Given the description of an element on the screen output the (x, y) to click on. 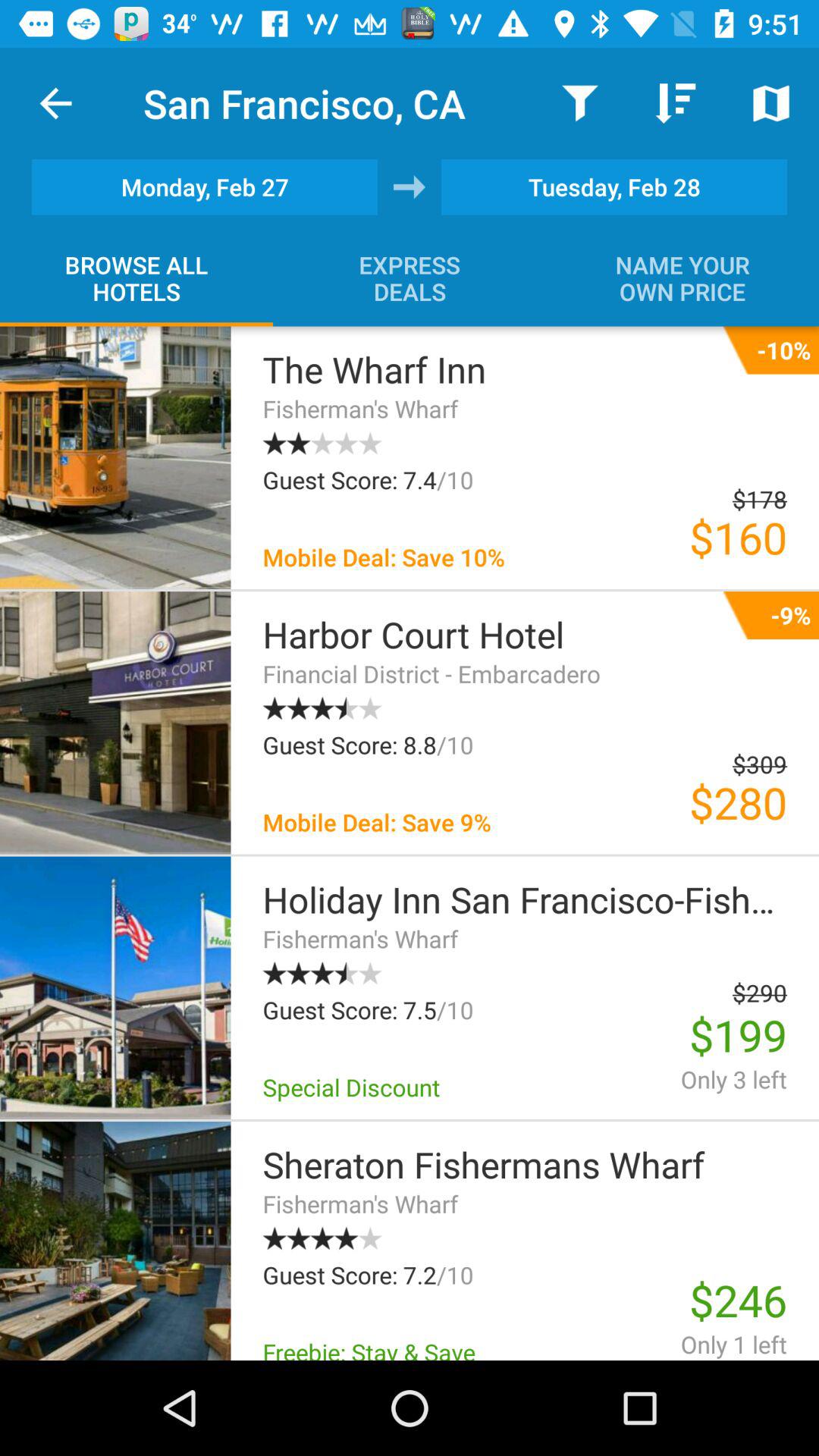
launch the icon above tuesday, feb 28 item (675, 103)
